Given the description of an element on the screen output the (x, y) to click on. 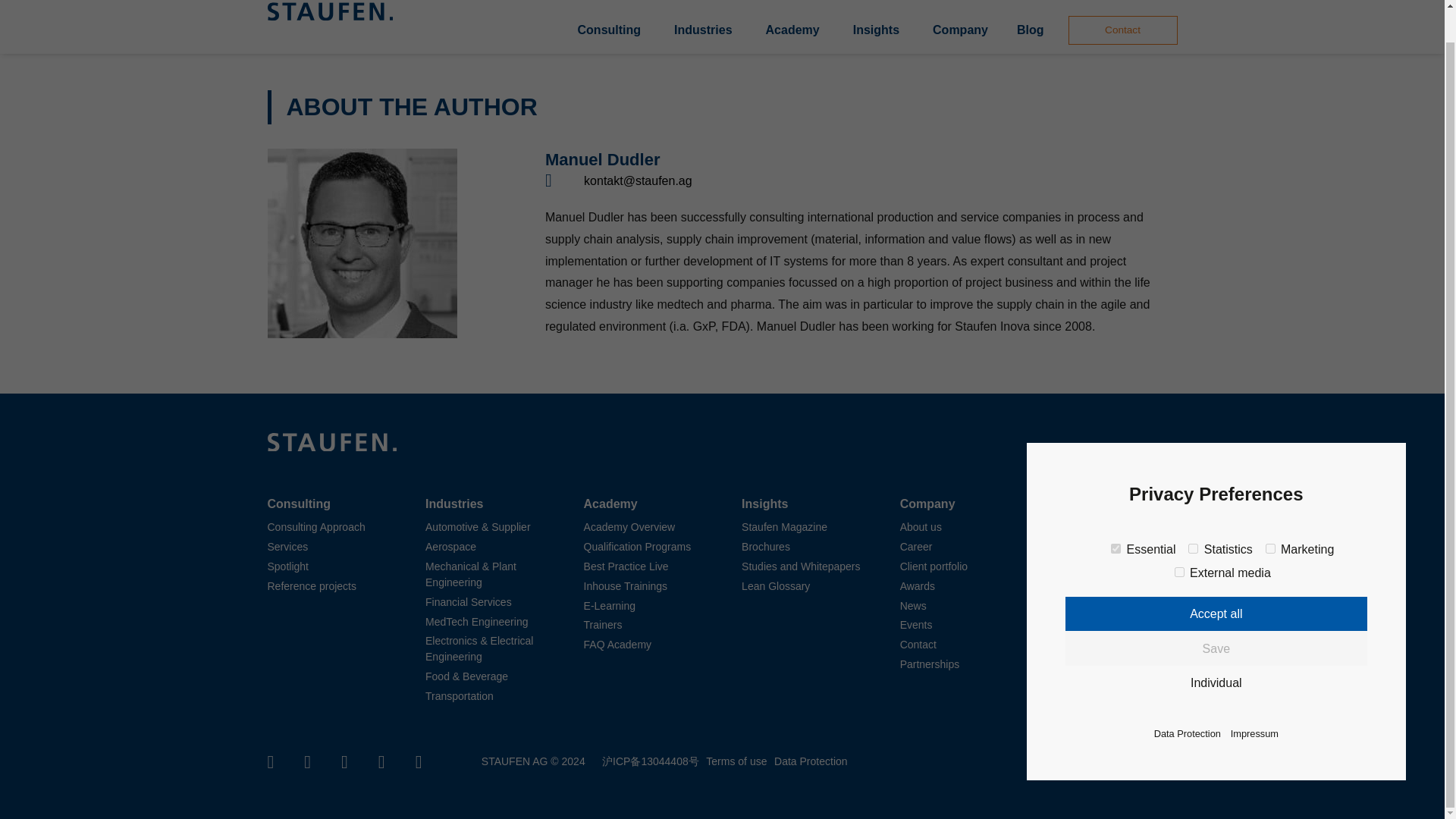
Contact (1121, 30)
Blog (1029, 30)
Consulting (609, 29)
on (1270, 515)
on (1115, 515)
Insights (876, 29)
Company (960, 29)
on (1179, 538)
Industries (702, 29)
Academy (792, 29)
